Given the description of an element on the screen output the (x, y) to click on. 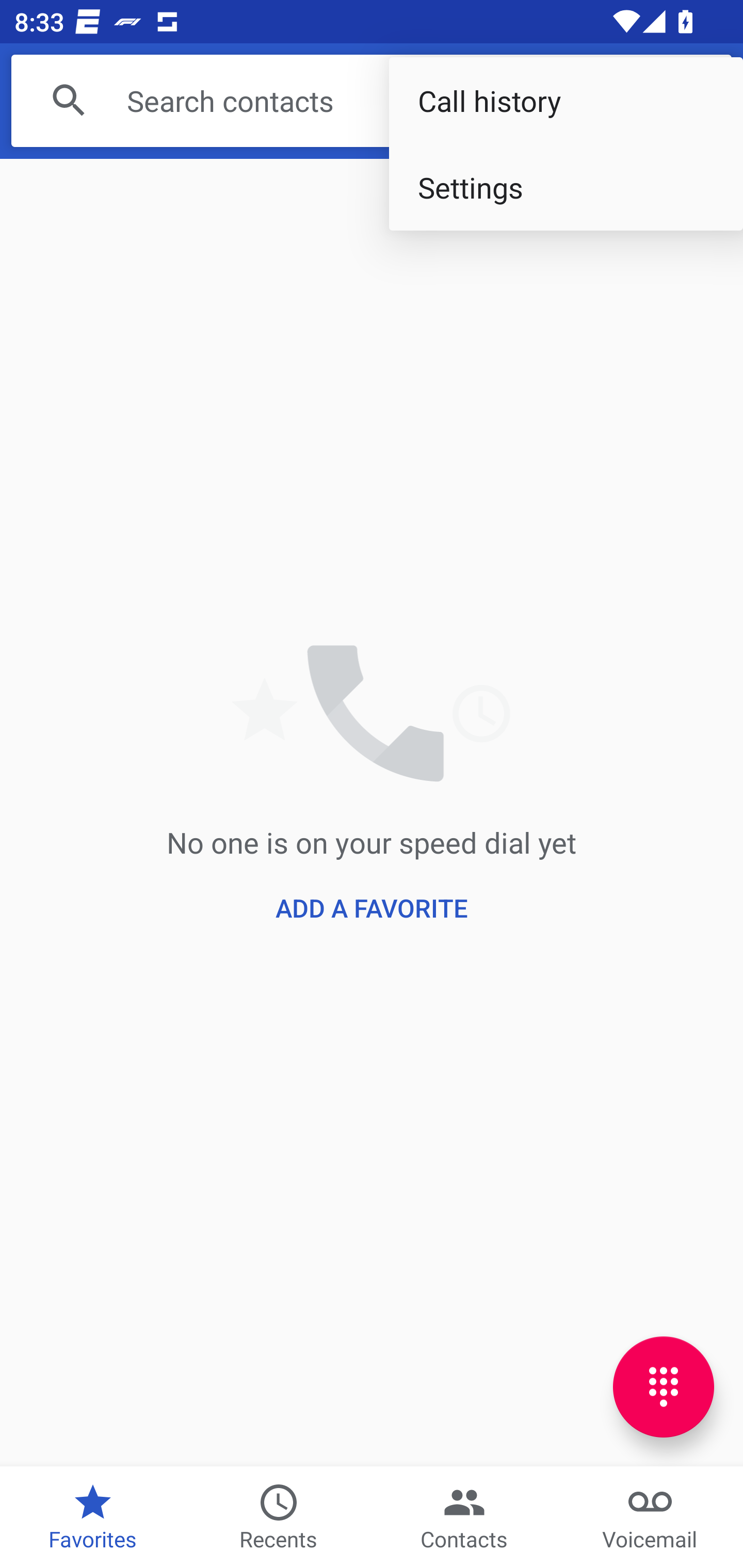
Call history (566, 101)
Settings (566, 187)
